Given the description of an element on the screen output the (x, y) to click on. 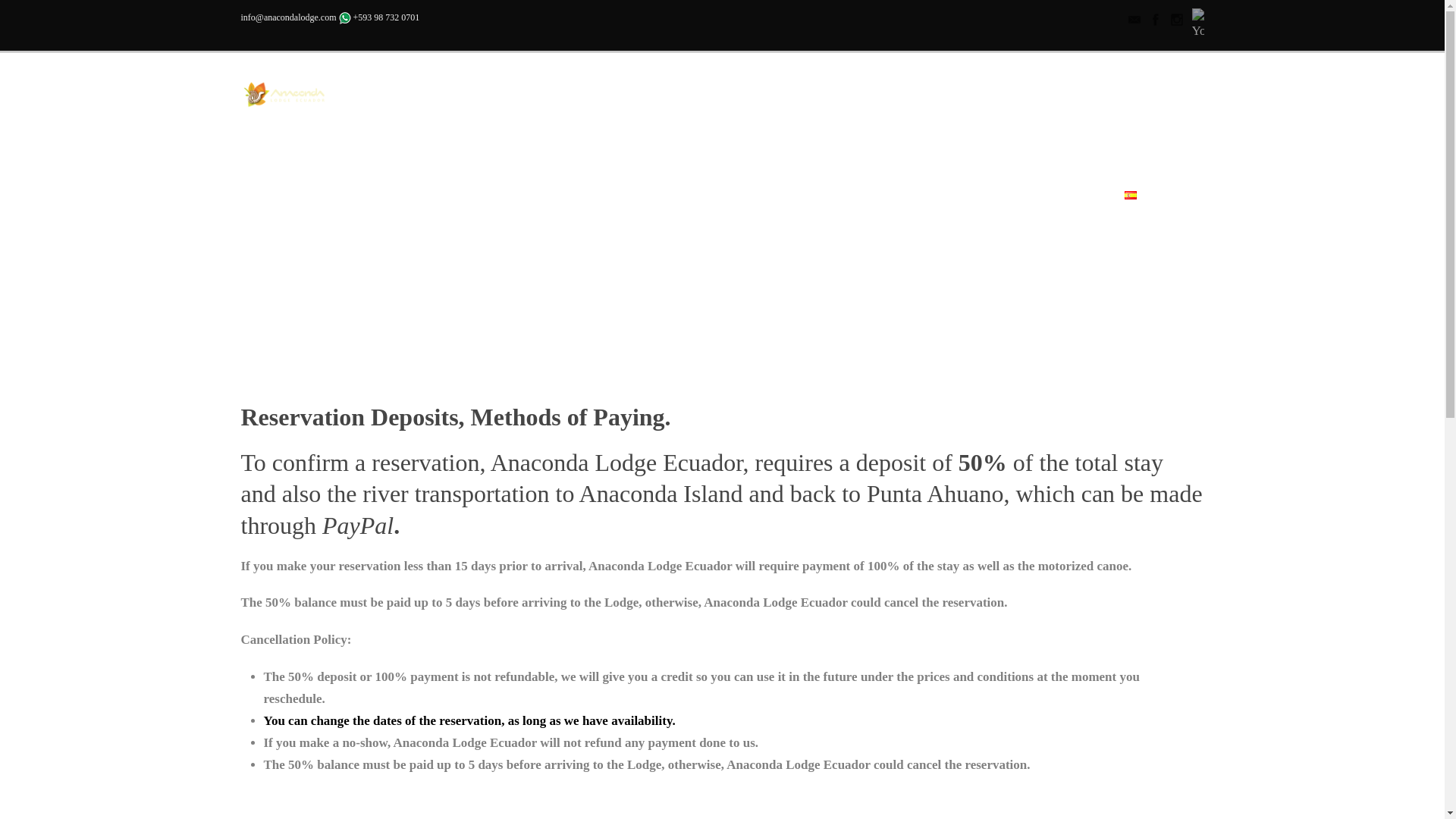
PROGRAMS (537, 202)
HOME (349, 202)
HOW TO GET HERE (666, 202)
WhatsApp (344, 18)
THE LODGE (431, 202)
GALLERY (788, 202)
